Given the description of an element on the screen output the (x, y) to click on. 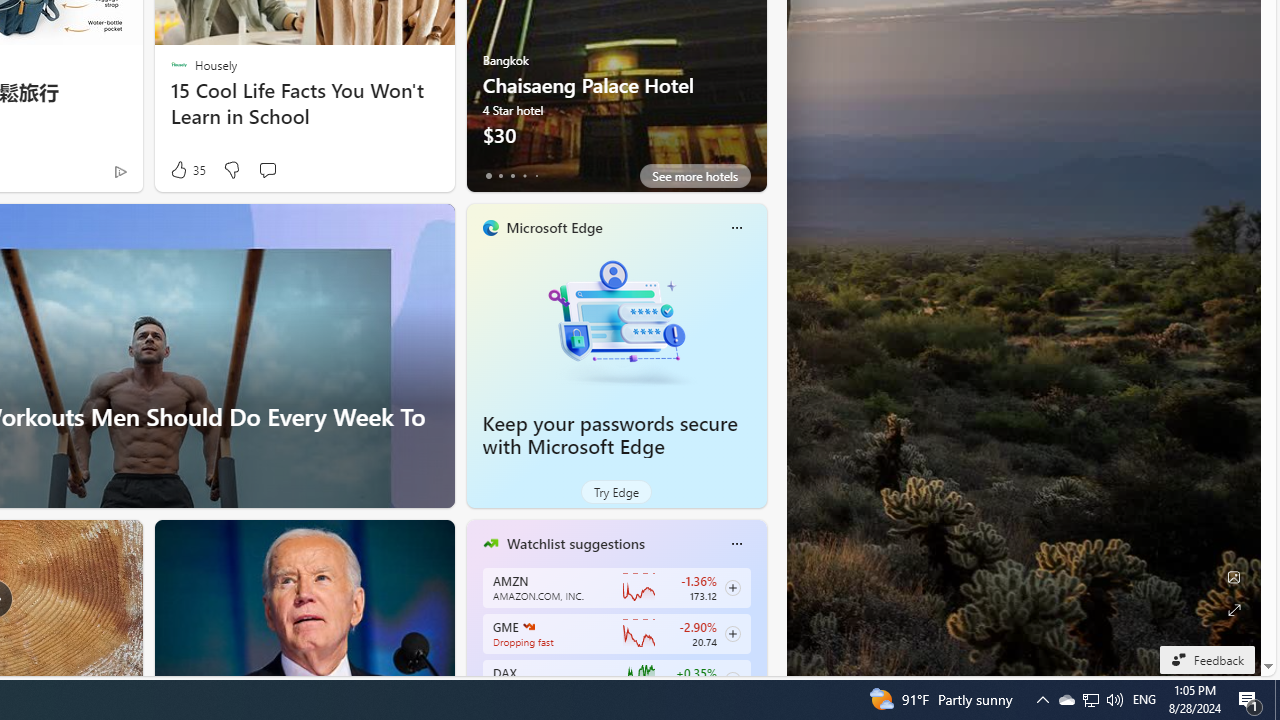
tab-0 (488, 175)
tab-3 (524, 175)
Keep your passwords secure with Microsoft Edge (616, 321)
Expand background (1233, 610)
Dislike (230, 170)
tab-4 (535, 175)
35 Like (186, 170)
Start the conversation (267, 169)
Keep your passwords secure with Microsoft Edge (610, 435)
GAMESTOP CORP. (528, 626)
